Given the description of an element on the screen output the (x, y) to click on. 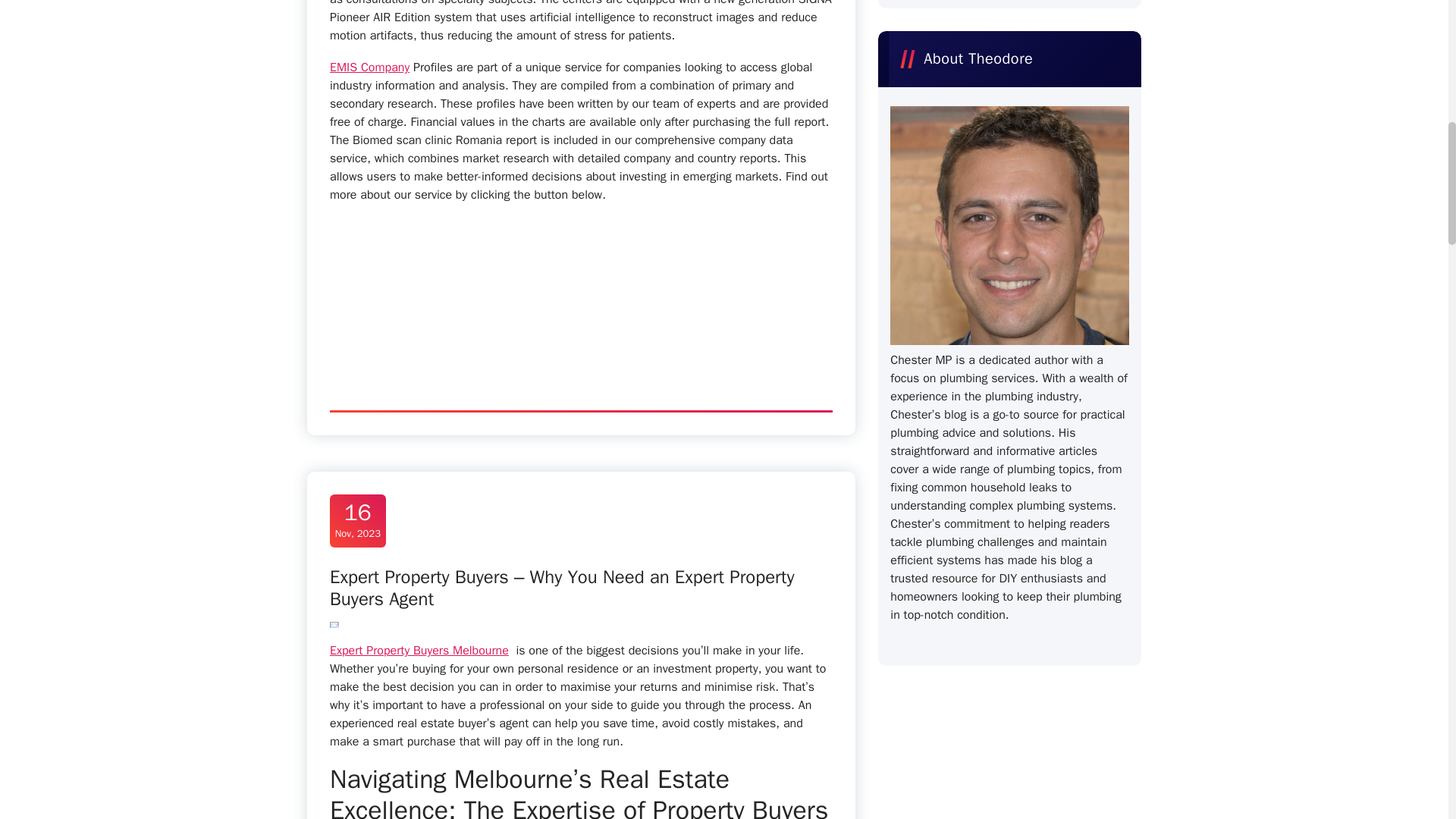
Expert Property Buyers Melbourne (419, 650)
EMIS Company (369, 67)
